Given the description of an element on the screen output the (x, y) to click on. 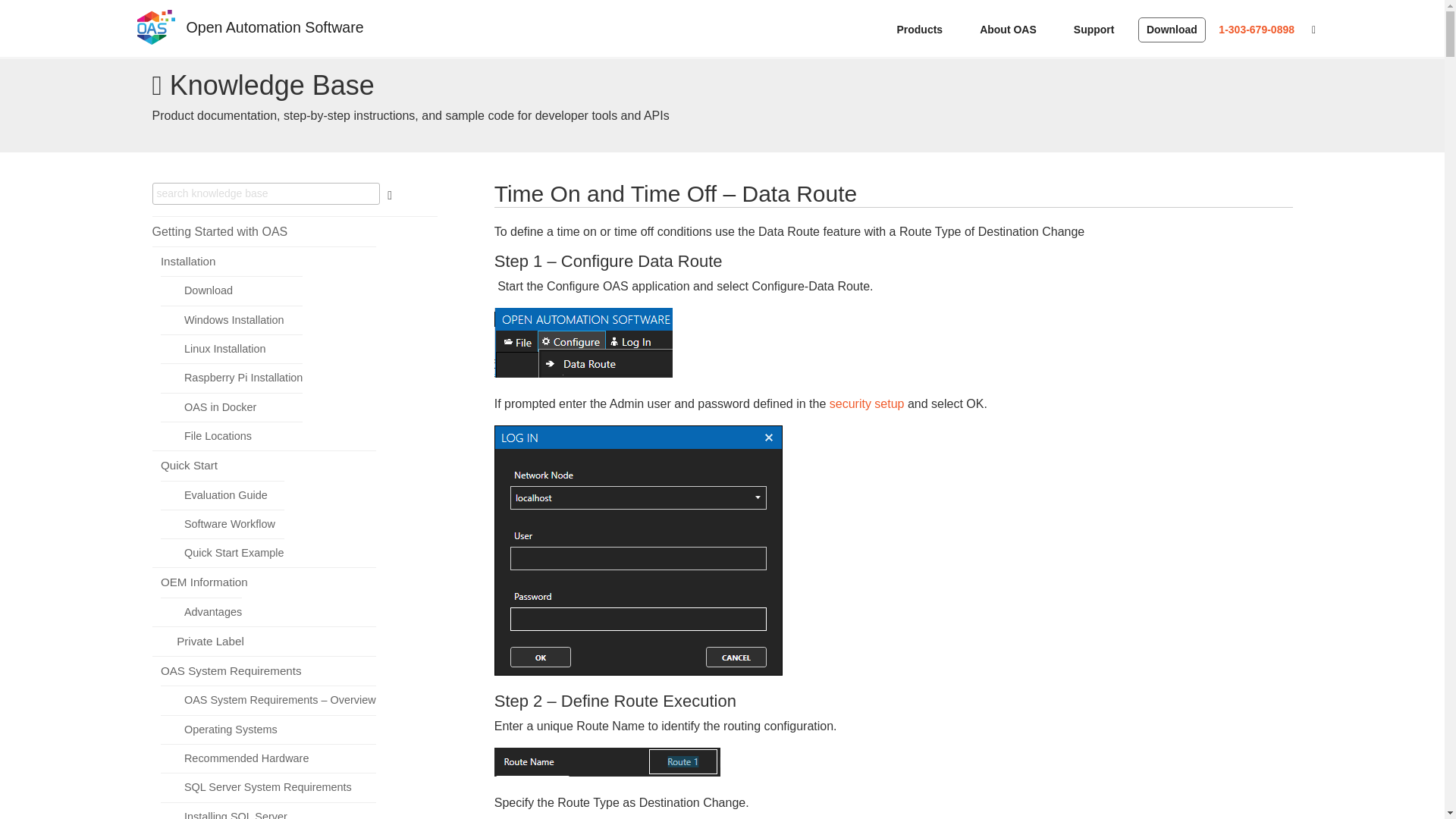
Installation (187, 261)
Support (1098, 28)
Products (924, 28)
Getting Started with OAS (218, 231)
1-303-679-0898 (1256, 28)
Open Automation Software (275, 22)
OAS Home (155, 42)
Download (1171, 28)
About OAS (1013, 28)
